Given the description of an element on the screen output the (x, y) to click on. 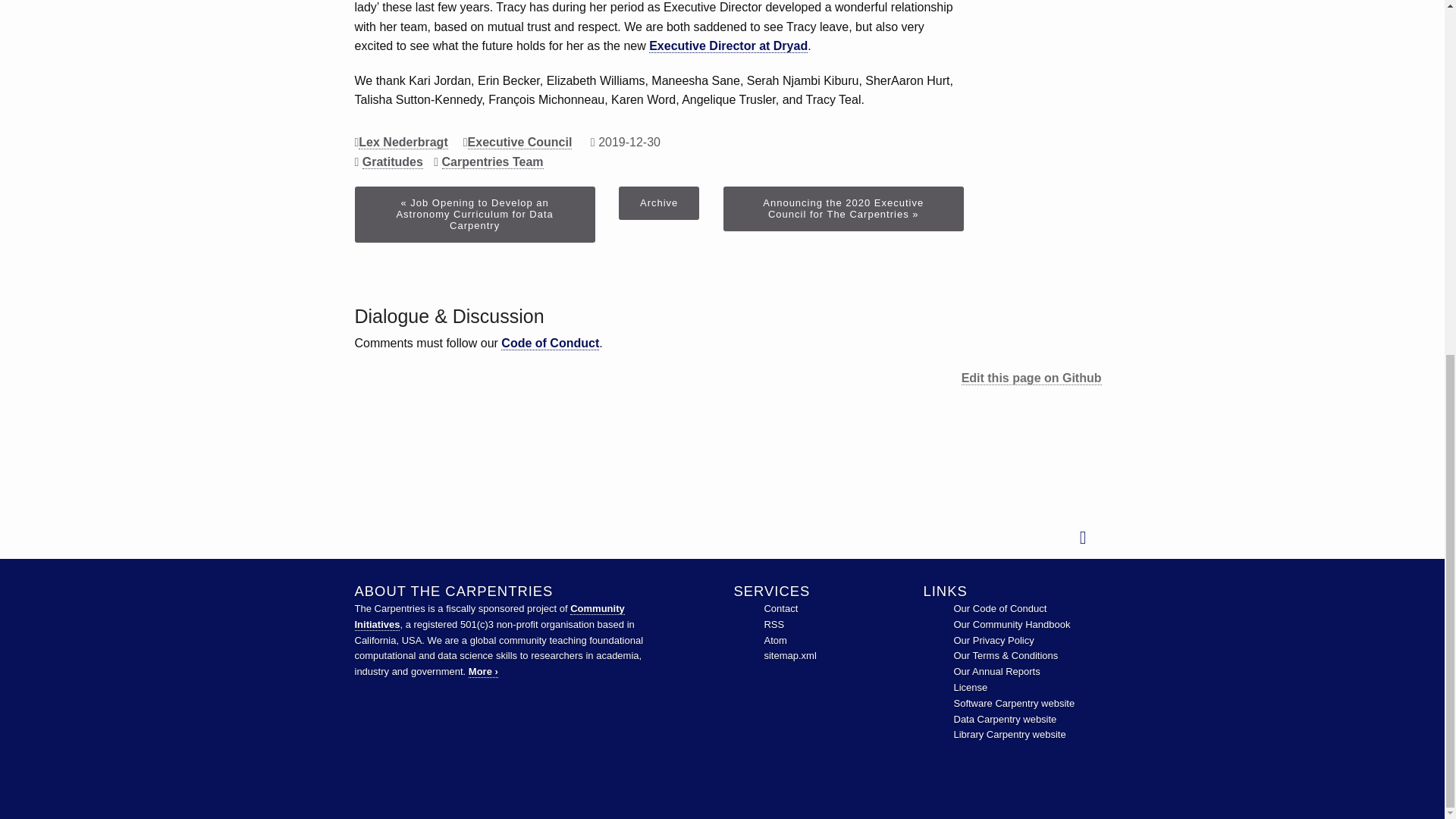
Terms and Conditions (1005, 655)
Data Carpentry (1005, 718)
Sitemap for Google Webmaster Tools (788, 655)
Our Reports (997, 671)
Contact (779, 608)
Privacy Policy (993, 640)
Blog Archive (658, 203)
License (970, 686)
Software Carpentry (1014, 703)
Subscribe to Atom Feed (774, 640)
Community Handbook (1011, 624)
Subscribe to RSS Feed (773, 624)
Code of Conduct (999, 608)
Library Carpentry (1009, 734)
